Given the description of an element on the screen output the (x, y) to click on. 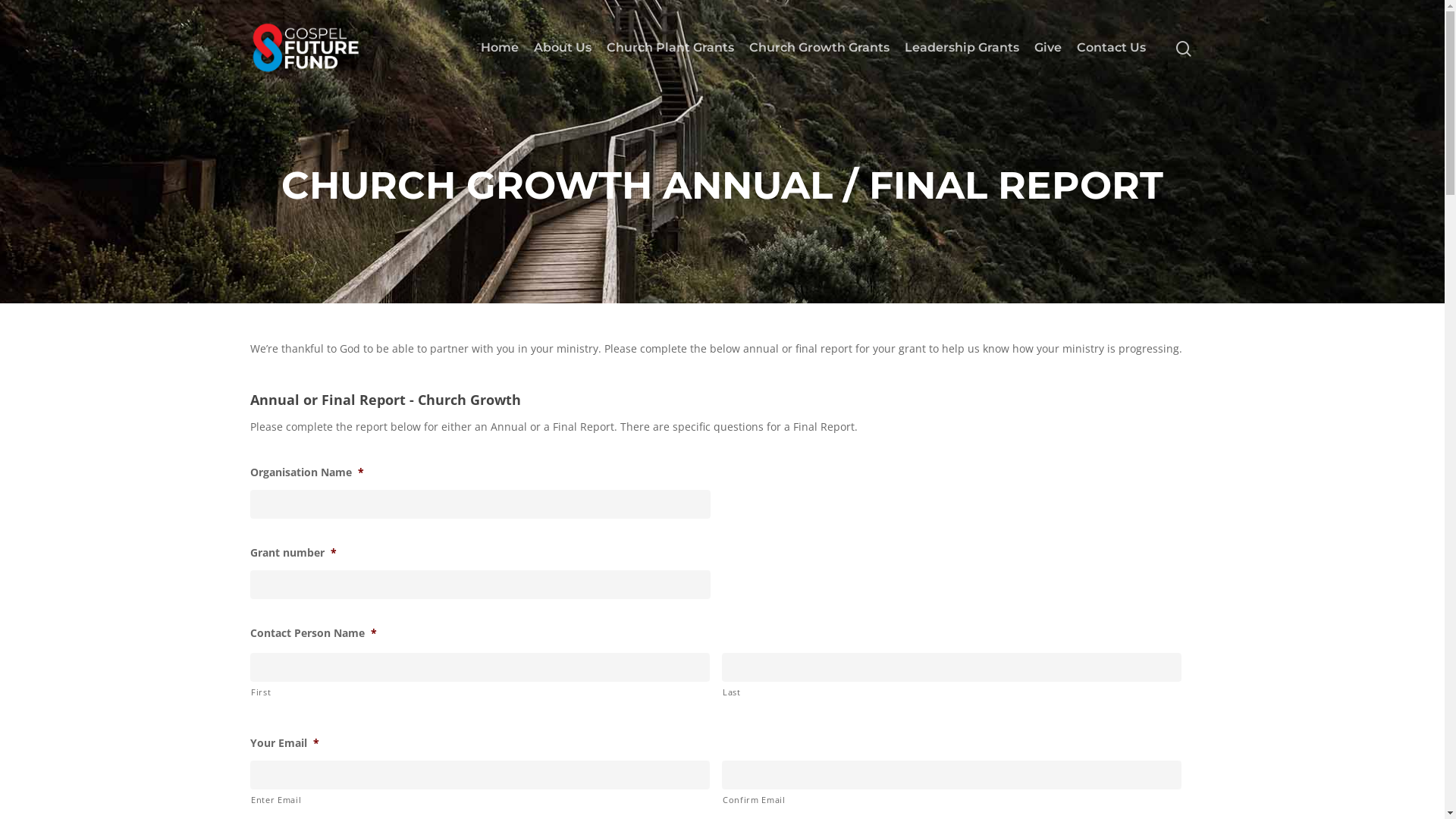
Contact Us Element type: text (1110, 47)
Leadership Grants Element type: text (961, 47)
About Us Element type: text (562, 47)
Home Element type: text (499, 47)
Church Growth Grants Element type: text (819, 47)
Church Plant Grants Element type: text (670, 47)
Give Element type: text (1047, 47)
